Given the description of an element on the screen output the (x, y) to click on. 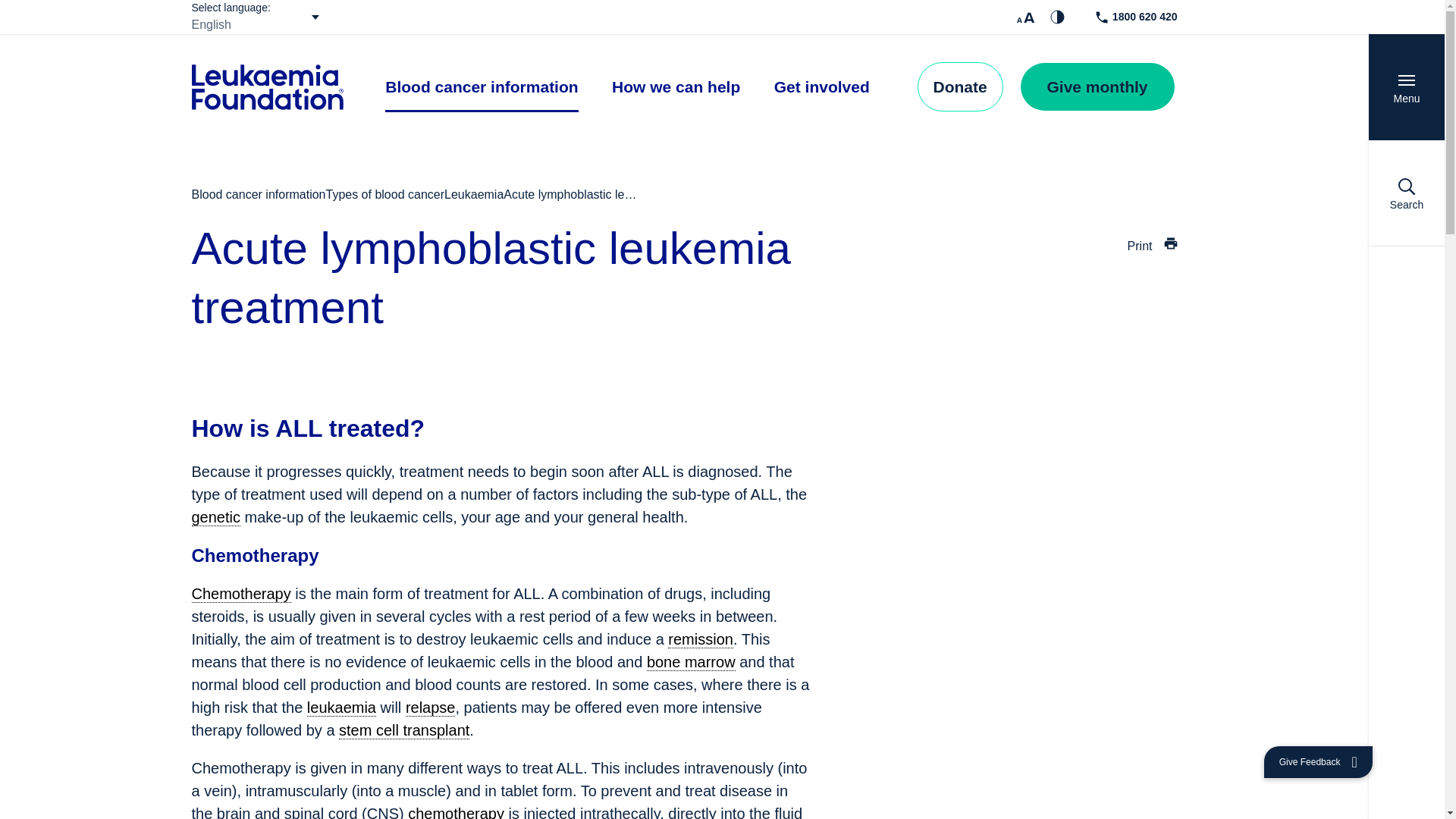
Give monthly (1097, 86)
Donate (960, 86)
1800 620 420 (1136, 17)
Leukaemia Foundation -  (266, 86)
Blood cancer information (481, 86)
Get involved (821, 86)
How we can help (675, 86)
